Given the description of an element on the screen output the (x, y) to click on. 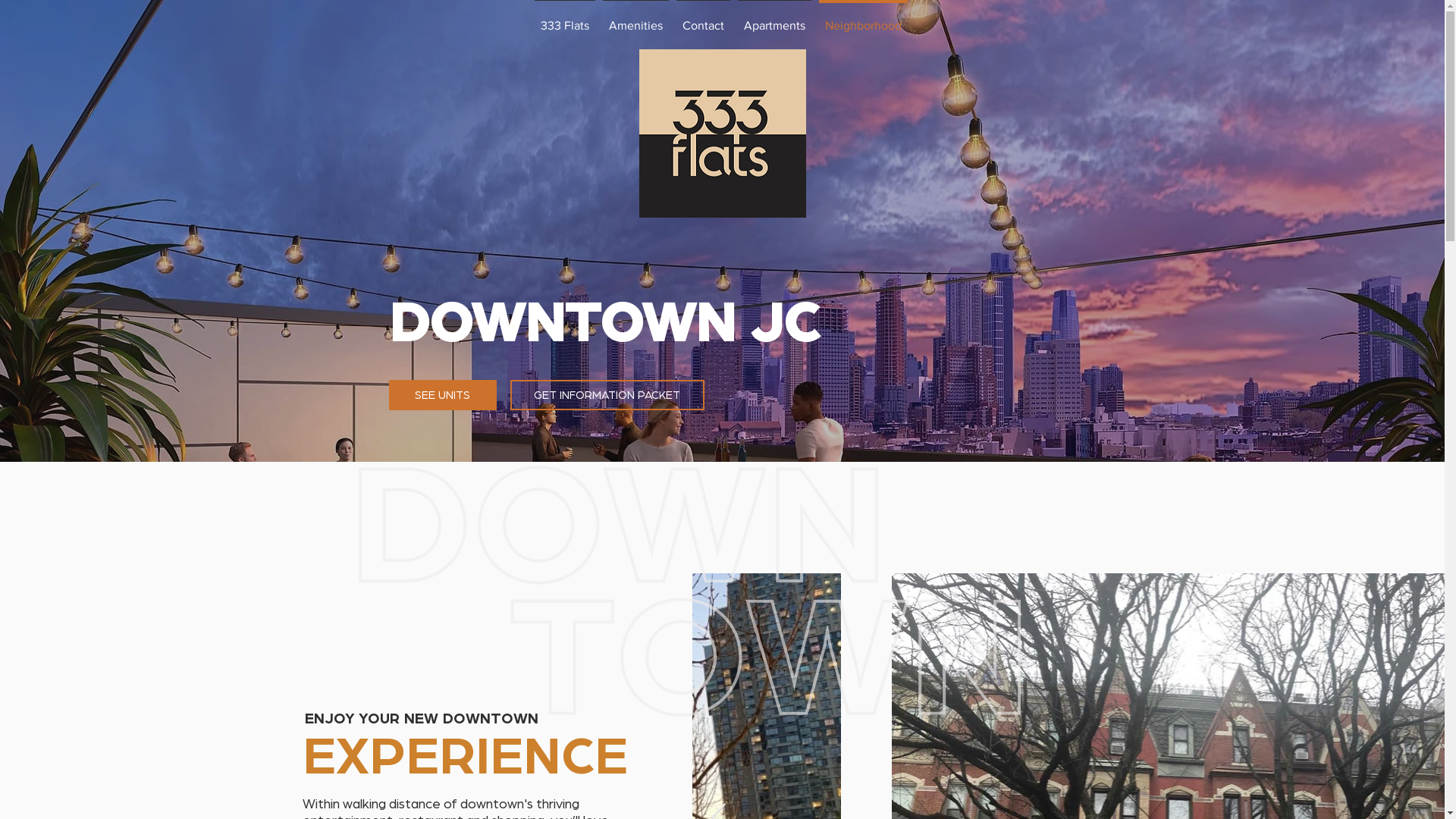
Amenities Element type: text (635, 18)
GET INFORMATION PACKET Element type: text (606, 394)
SEE UNITS Element type: text (441, 394)
Contact Element type: text (702, 18)
333 Flats Element type: text (564, 18)
Neighborhood Element type: text (862, 18)
Apartments Element type: text (774, 18)
